Given the description of an element on the screen output the (x, y) to click on. 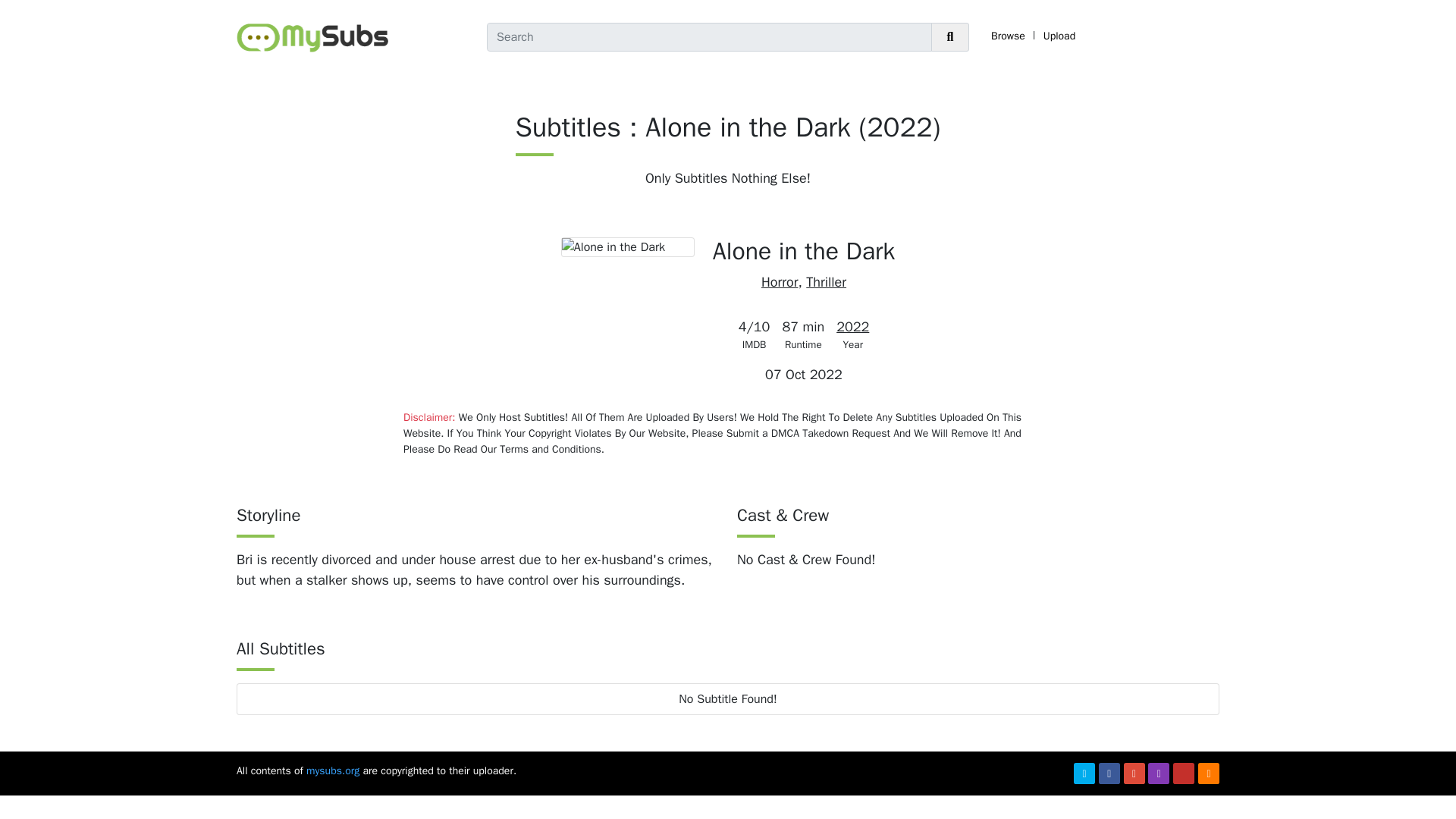
mysubs.org (332, 770)
2022 (852, 326)
Browse (1008, 35)
Upload (1059, 35)
Thriller (825, 281)
Horror (779, 281)
